Given the description of an element on the screen output the (x, y) to click on. 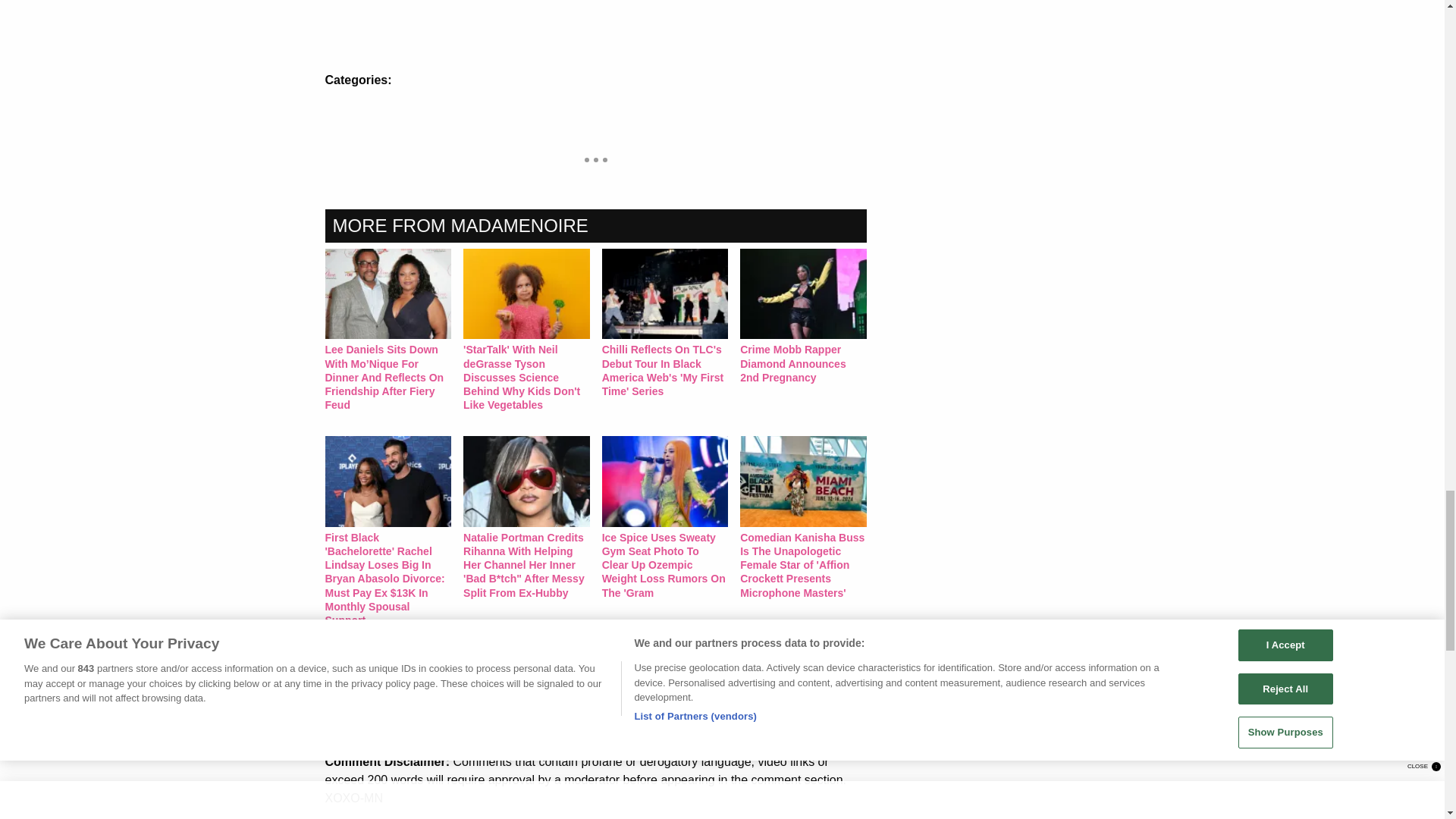
Vuukle Sharebar Widget (595, 106)
Crime Mobb Rapper Diamond Announces 2nd Pregnancy (802, 316)
